Given the description of an element on the screen output the (x, y) to click on. 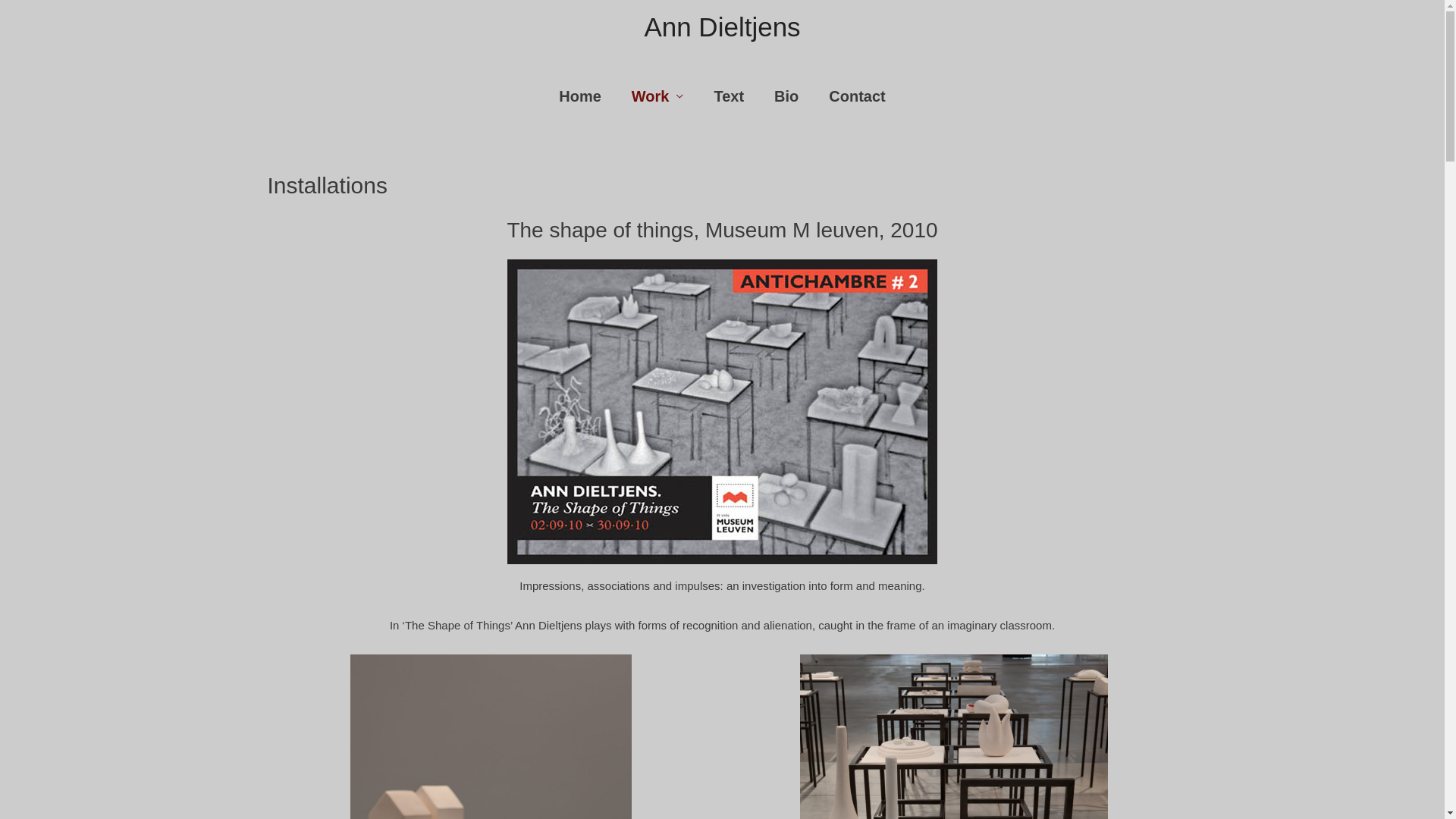
Home Element type: text (579, 95)
Text Element type: text (728, 95)
Bio Element type: text (786, 95)
Ann Dieltjens Element type: text (721, 26)
Contact Element type: text (856, 95)
Work Element type: text (657, 95)
